Given the description of an element on the screen output the (x, y) to click on. 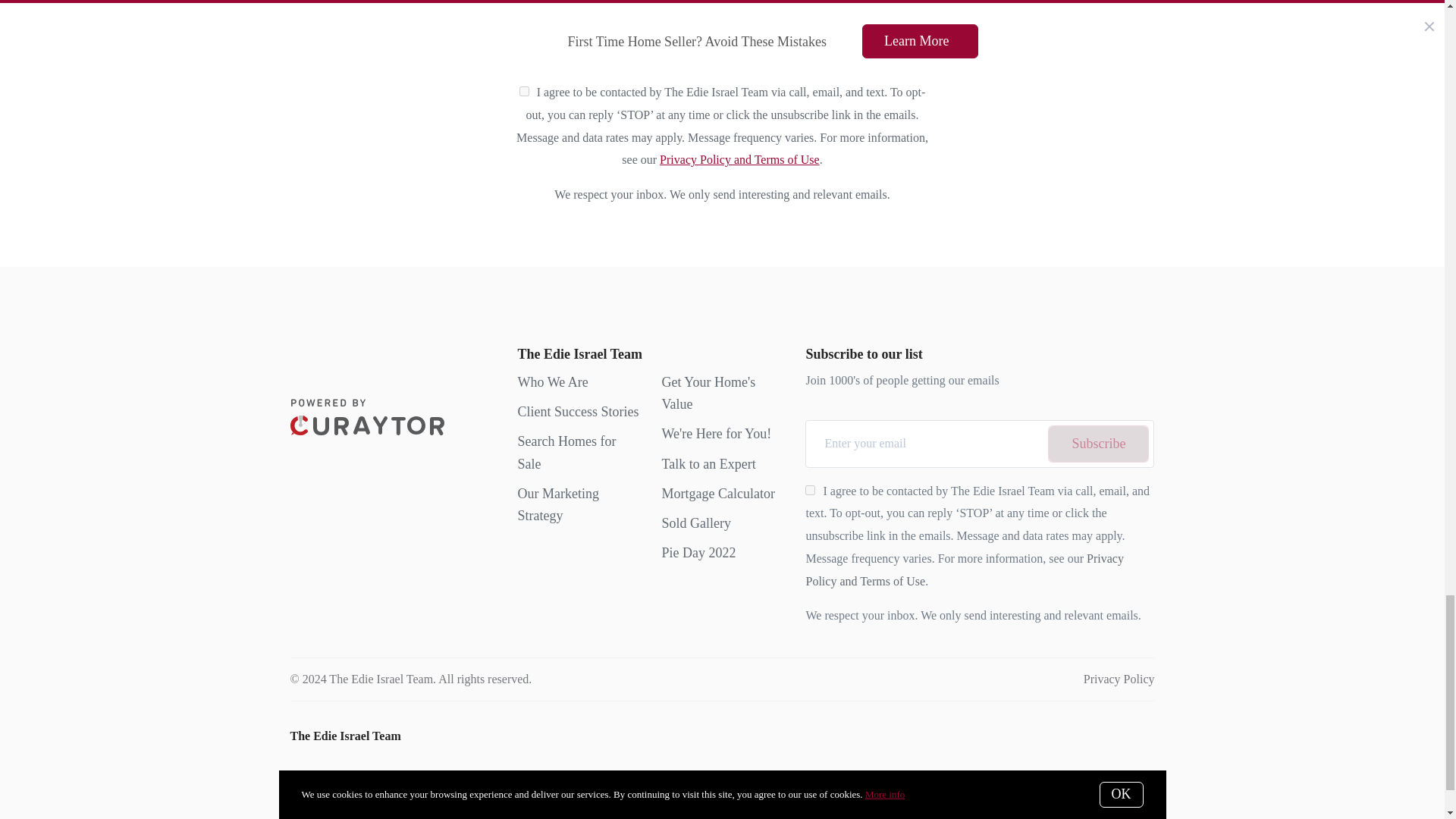
curaytor-horizontal (366, 416)
on (810, 490)
on (524, 91)
